Given the description of an element on the screen output the (x, y) to click on. 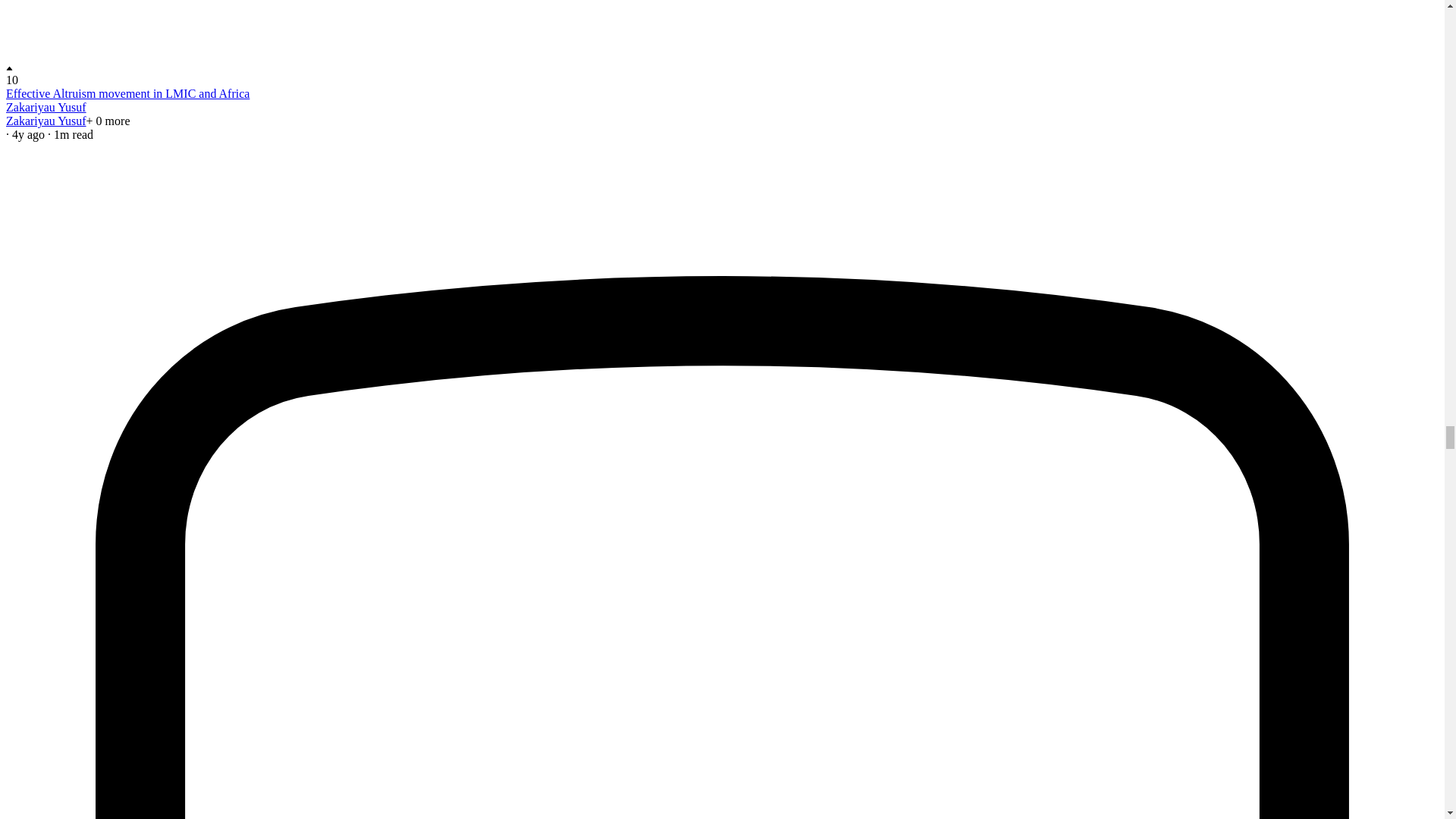
Zakariyau Yusuf (45, 120)
Zakariyau Yusuf (45, 106)
Effective Altruism movement in LMIC and Africa (126, 92)
